Given the description of an element on the screen output the (x, y) to click on. 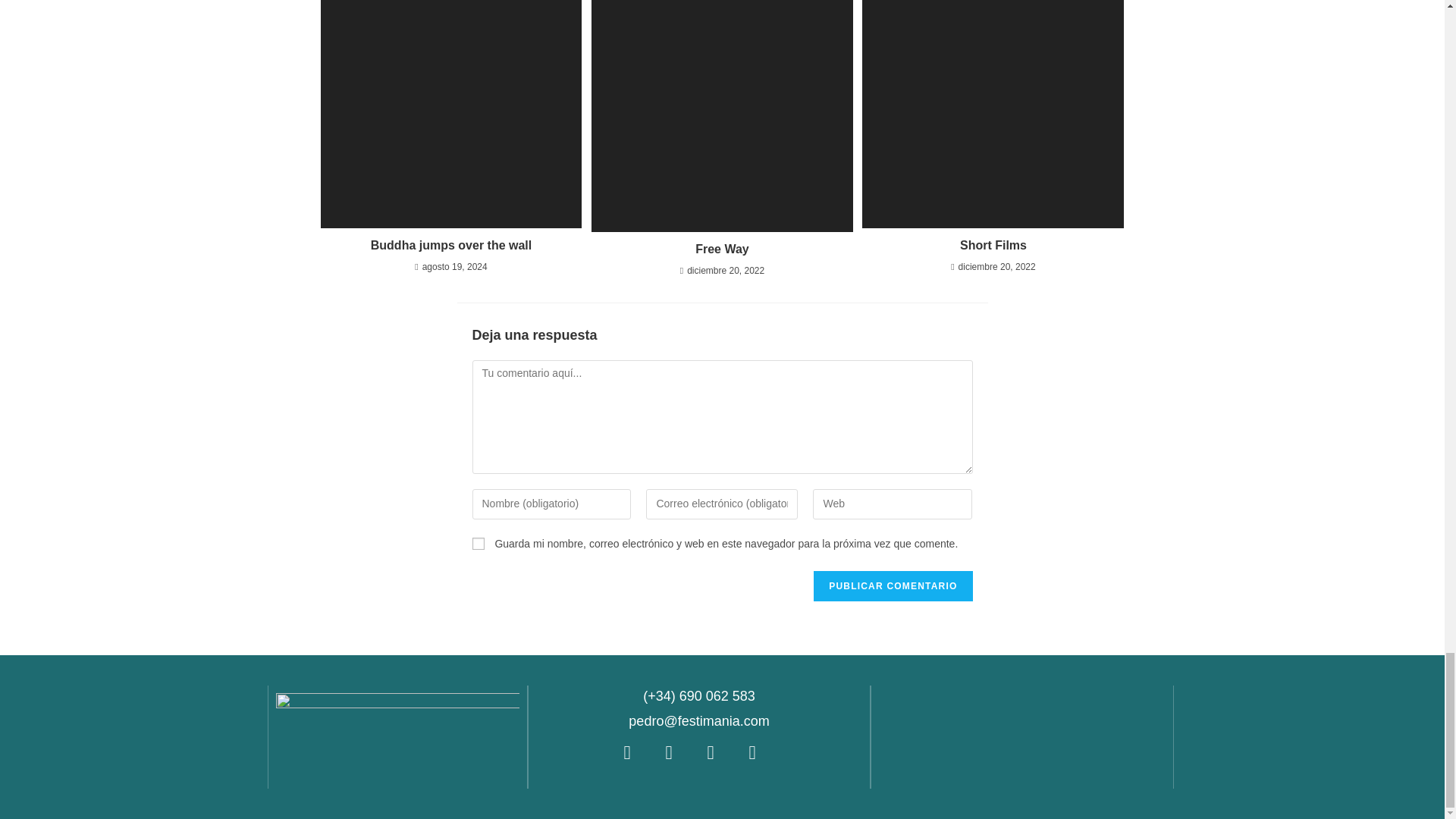
Buddha jumps over the wall (450, 245)
Short Films (992, 245)
yes (477, 543)
Free Way (721, 248)
Publicar comentario (892, 585)
Publicar comentario (892, 585)
